Given the description of an element on the screen output the (x, y) to click on. 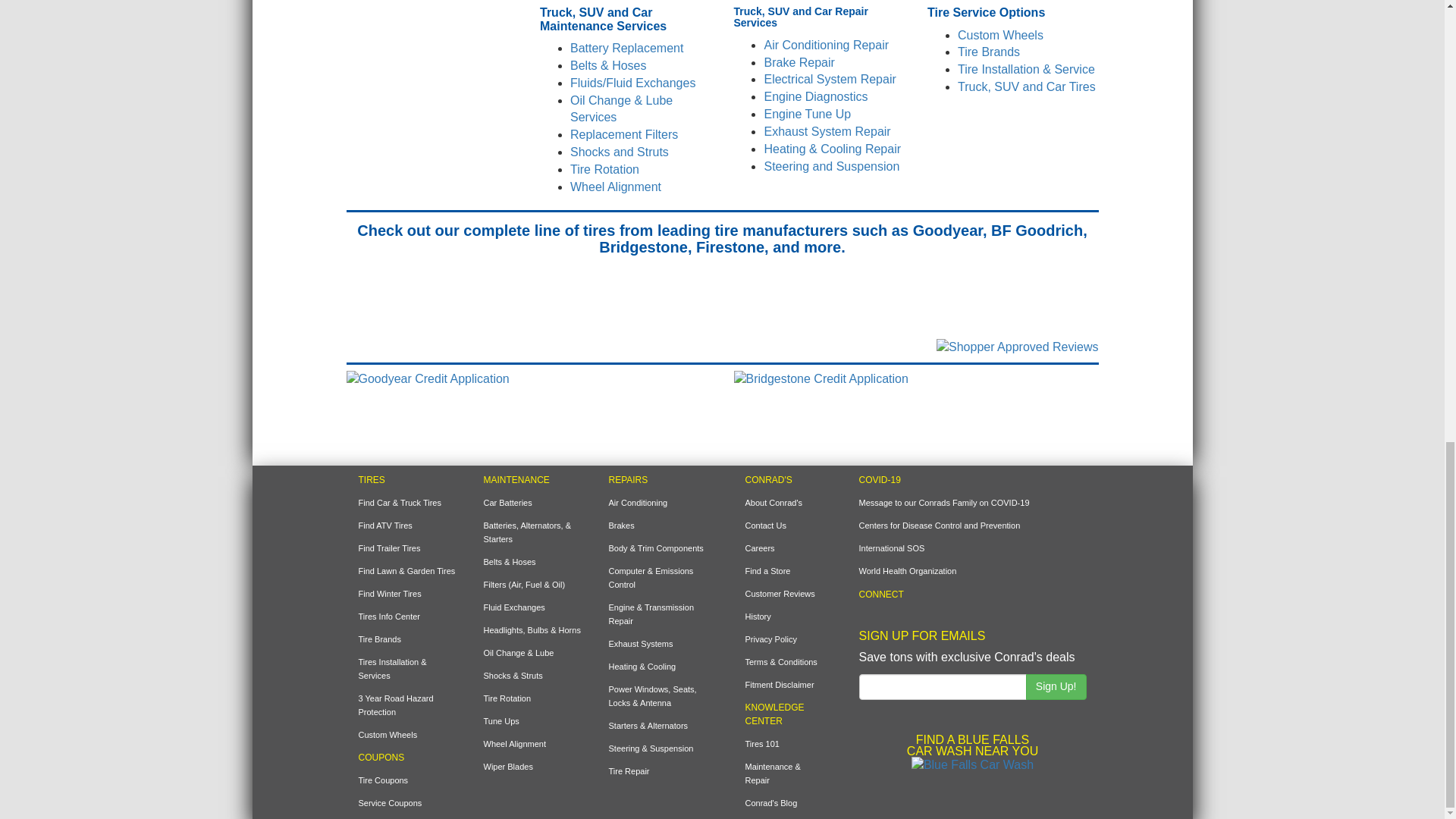
Visit Blue Falls Car Wash (972, 764)
